Given the description of an element on the screen output the (x, y) to click on. 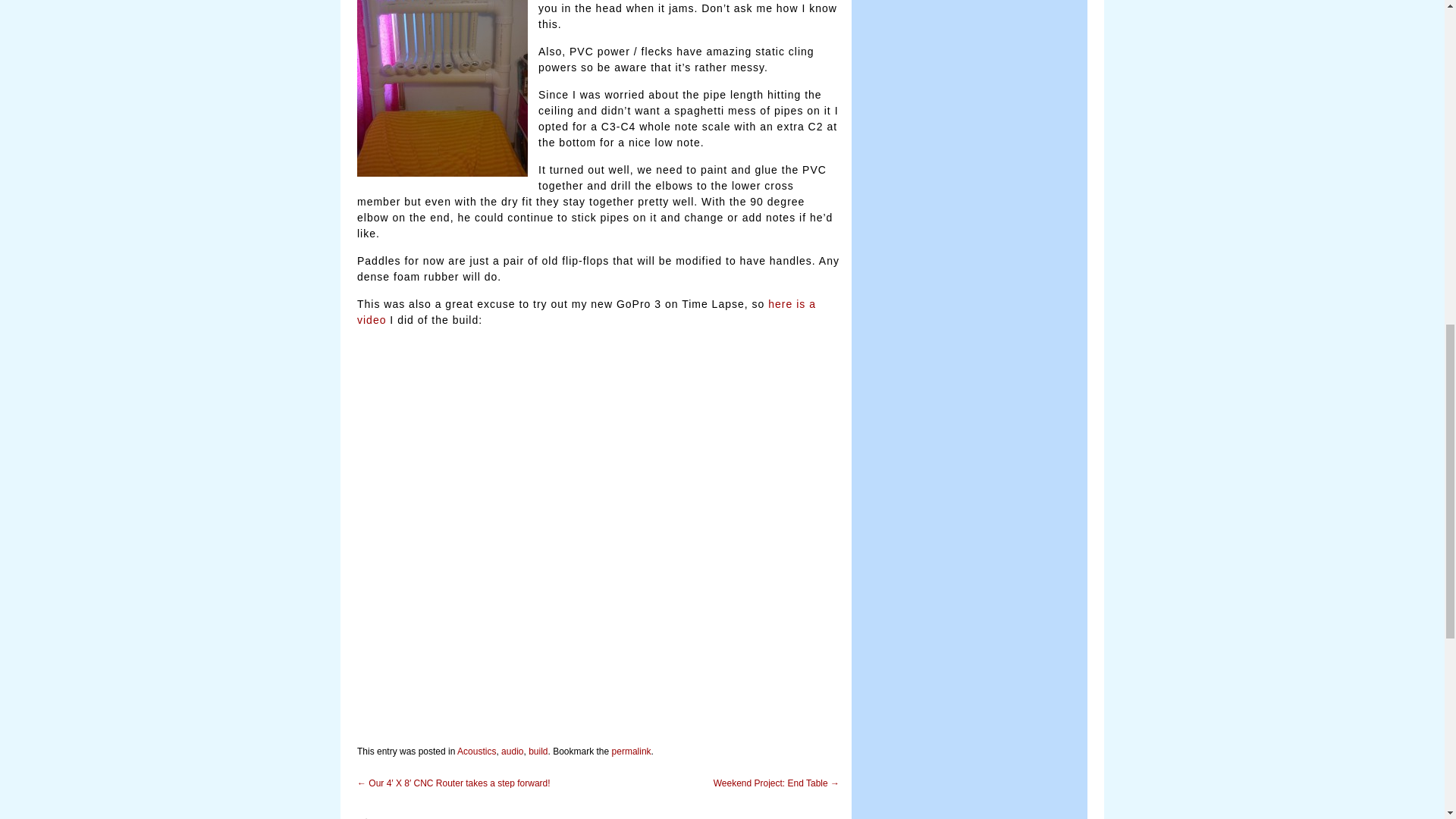
build (537, 751)
Acoustics (476, 751)
here is a video (585, 311)
Permalink to PVC Musical Headboard Build (630, 751)
permalink (630, 751)
audio (511, 751)
